Given the description of an element on the screen output the (x, y) to click on. 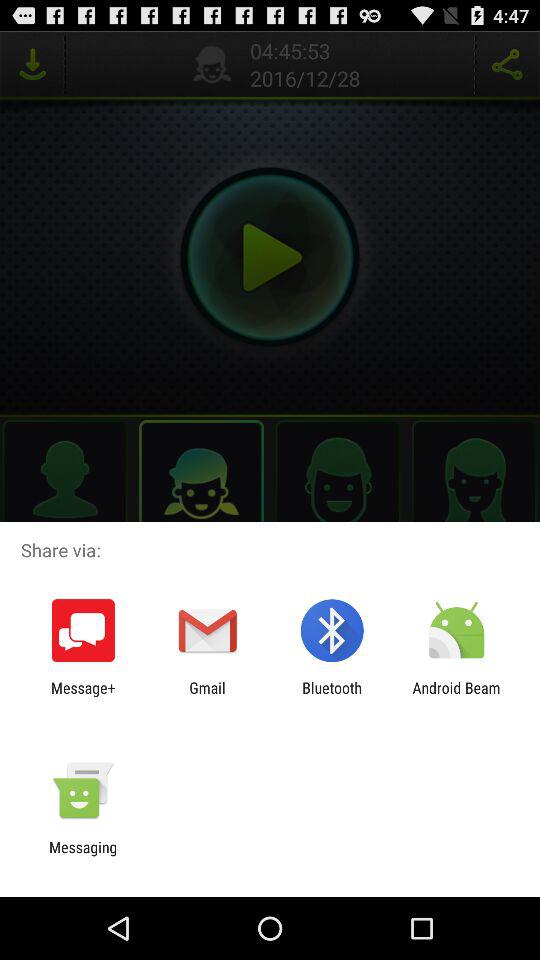
launch the bluetooth app (331, 696)
